Given the description of an element on the screen output the (x, y) to click on. 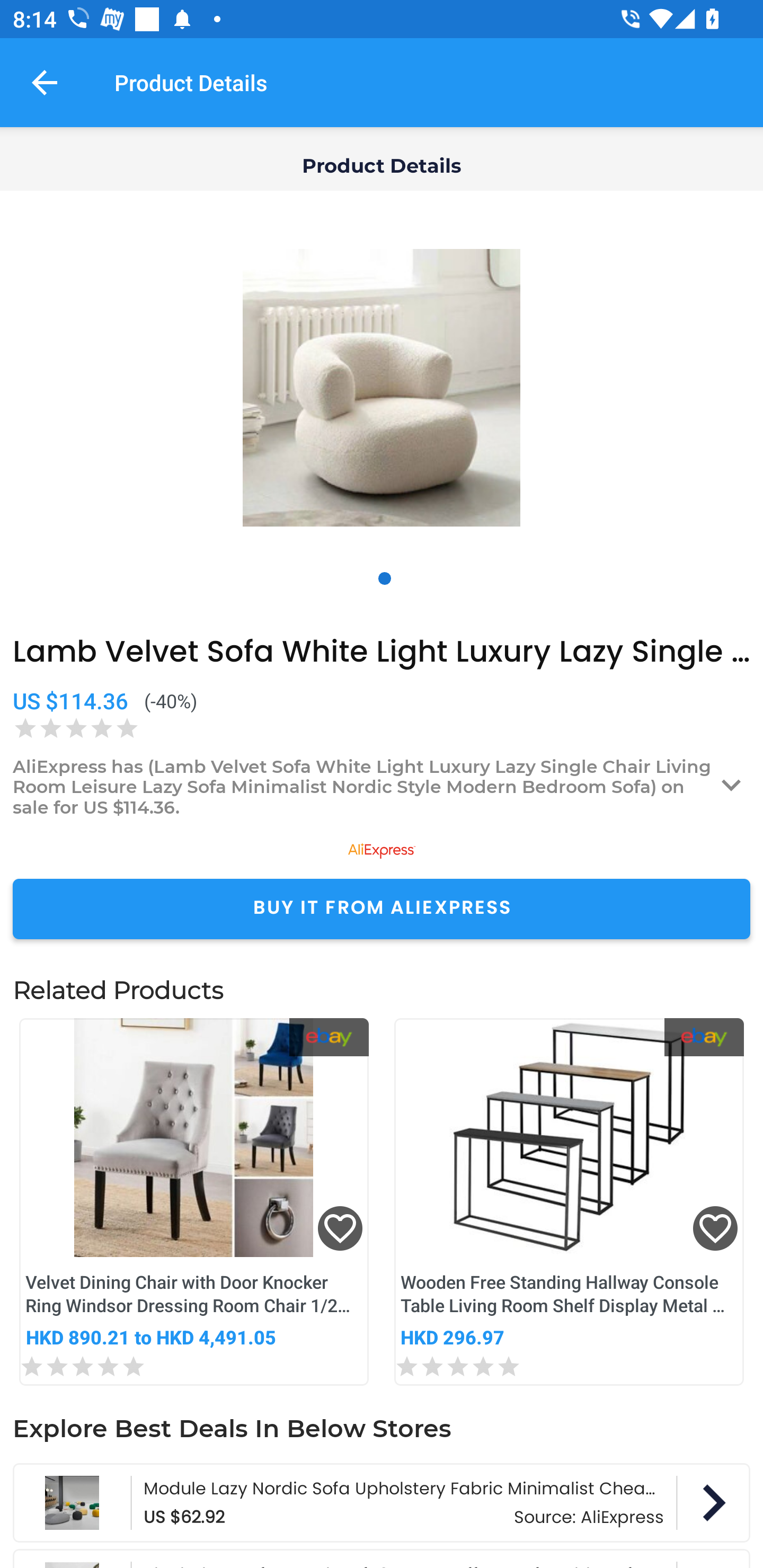
Navigate up (44, 82)
BUY IT FROM ALIEXPRESS (381, 908)
